Given the description of an element on the screen output the (x, y) to click on. 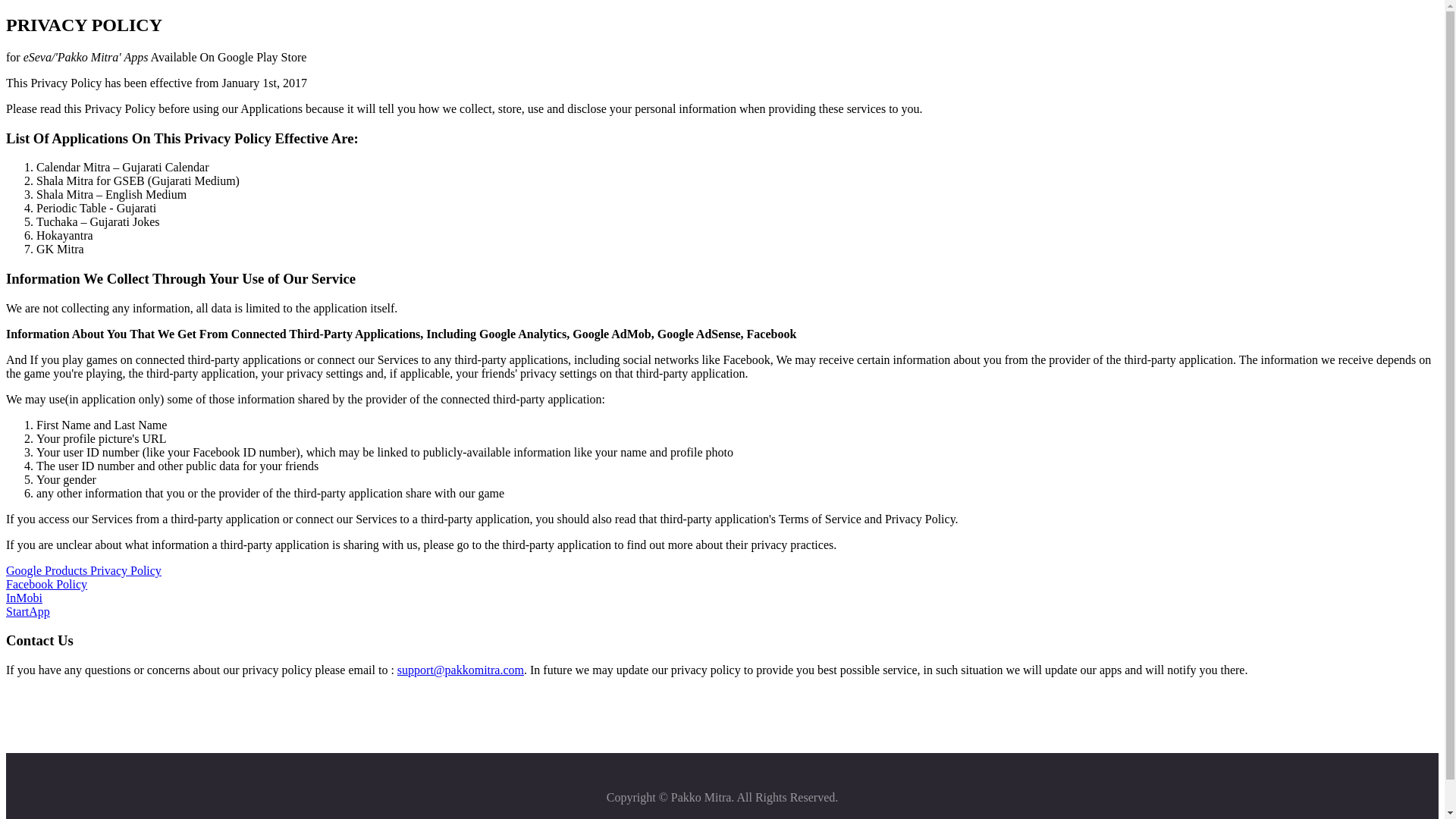
InMobi (23, 597)
Google Products Privacy Policy (83, 570)
Facebook Policy (46, 584)
StartApp (27, 611)
